Given the description of an element on the screen output the (x, y) to click on. 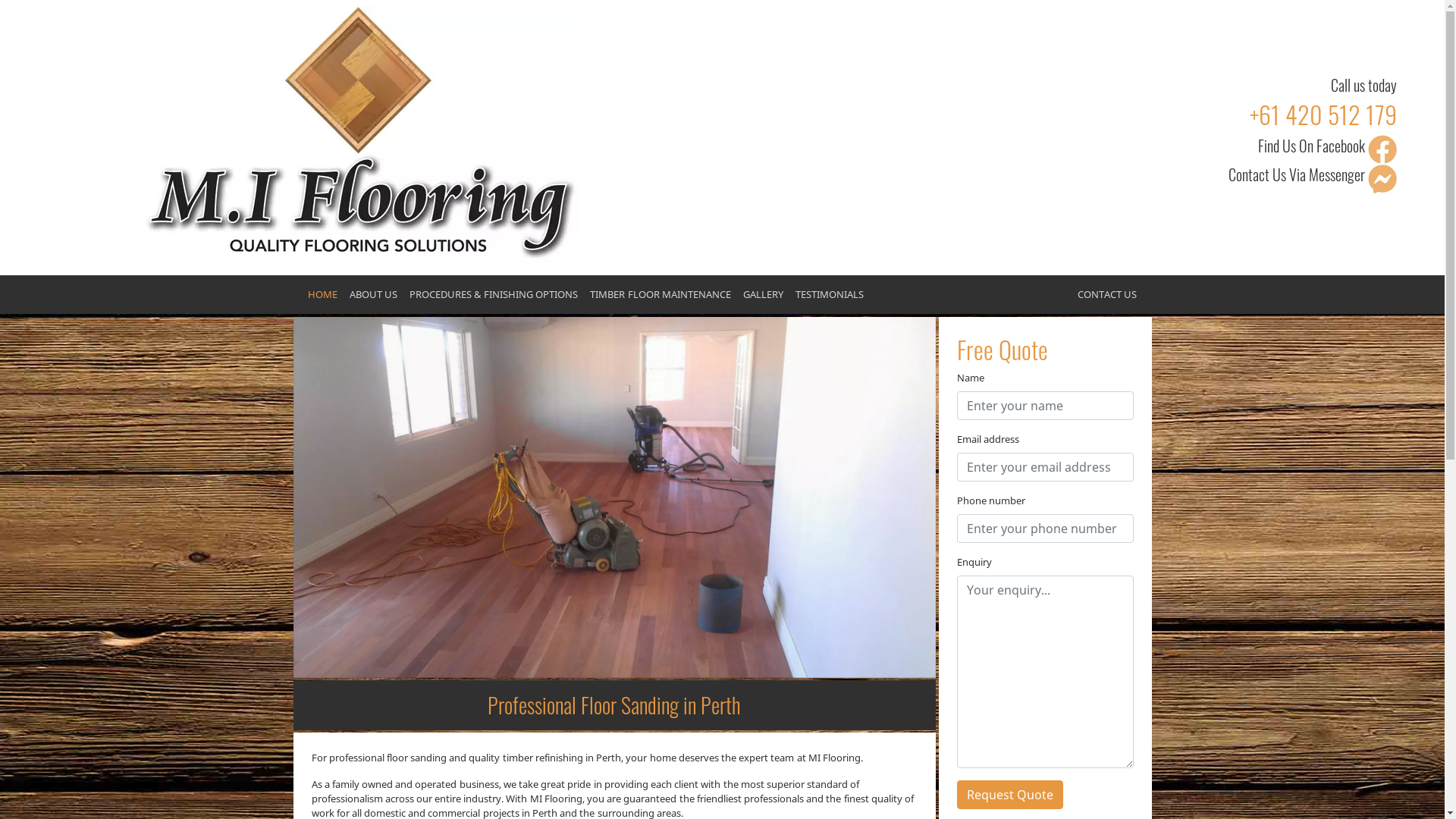
ABOUT US Element type: text (372, 294)
HOME Element type: text (322, 294)
CONTACT US Element type: text (1106, 294)
TESTIMONIALS Element type: text (829, 294)
PROCEDURES & FINISHING OPTIONS Element type: text (493, 294)
GALLERY Element type: text (763, 294)
Contact Us Via Messenger Element type: hover (1382, 177)
Request Quote Element type: text (1010, 794)
Find Us On Facebook Element type: hover (1382, 148)
TIMBER FLOOR MAINTENANCE Element type: text (659, 294)
+61 420 512 179 Element type: text (1322, 113)
